Given the description of an element on the screen output the (x, y) to click on. 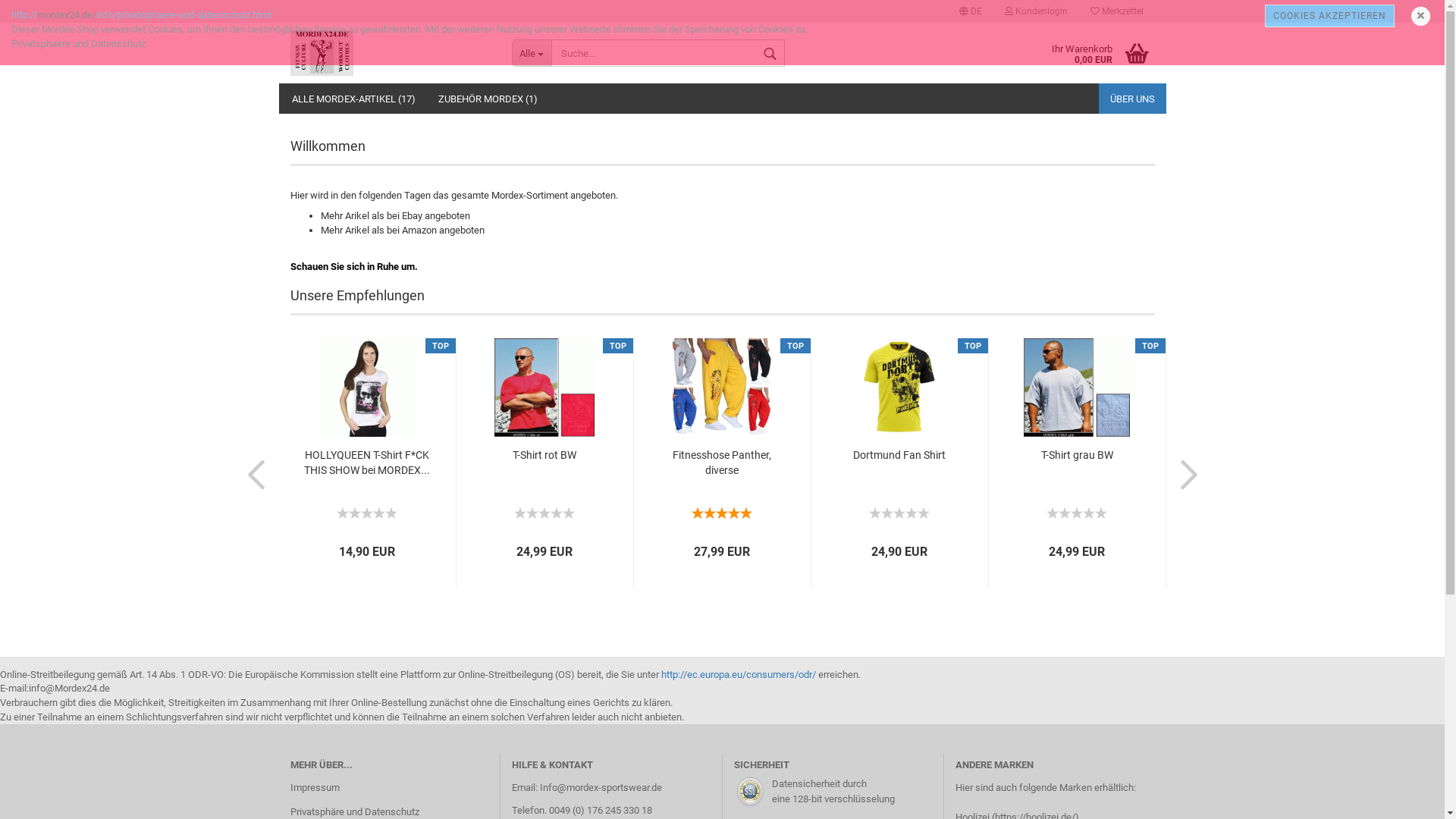
Bisher wurden keine Rezensionen zu diesem Produkt abgegeben Element type: hover (899, 511)
COOKIES AKZEPTIEREN Element type: text (1329, 15)
http:// Element type: text (24, 14)
info/privatsphaere-und-datenschutz.html Element type: text (183, 14)
mordex24.de Element type: hover (389, 52)
T-Shirt grau BW Element type: hover (1076, 387)
DE Element type: text (970, 11)
Fitnesshose Panther, diverse Element type: hover (721, 387)
Bisher wurden keine Rezensionen zu diesem Produkt abgegeben Element type: hover (544, 511)
Dortmund Fan Shirt Element type: text (899, 455)
Mordex T-Shirt rot BW Element type: hover (544, 517)
T-Shirt rot BW Element type: hover (544, 387)
Bisher wurden keine Rezensionen zu diesem Produkt abgegeben Element type: hover (1076, 511)
 Kundenlogin Element type: text (1036, 11)
Dortmund Fan Shirt Element type: hover (899, 517)
Dortmund Fan Shirt Element type: hover (898, 387)
http://ec.europa.eu/consumers/odr/ Element type: text (738, 674)
Mordex, Fitnesshose Panther, diverse Element type: hover (721, 517)
T-Shirt rot BW Element type: text (544, 455)
Mordex T-Shirt grau BW Element type: hover (1076, 517)
In 1 Rezensionen durchschnittlich mit 5 bewertet Element type: hover (721, 511)
T-Shirt grau BW Element type: text (1076, 455)
Ihr Warenkorb
0,00 EUR Element type: text (1091, 52)
Alle Element type: text (531, 52)
HOLLYQUEEN T-Shirt F*CK THIS SHOW bei MORDEX Element type: hover (366, 387)
Fitnesshose Panther, diverse Element type: text (721, 463)
Speichern Element type: text (887, 180)
HOLLYQUEEN T-Shirt F*CK THIS SHOW bei MORDEX Element type: hover (367, 517)
ALLE MORDEX-ARTIKEL (17) Element type: text (353, 98)
Impressum Element type: text (388, 787)
Bisher wurden keine Rezensionen zu diesem Produkt abgegeben Element type: hover (366, 511)
HOLLYQUEEN T-Shirt F*CK THIS SHOW bei MORDEX... Element type: text (367, 463)
 Merkzettel Element type: text (1116, 11)
Anmelden Element type: text (952, 185)
